Given the description of an element on the screen output the (x, y) to click on. 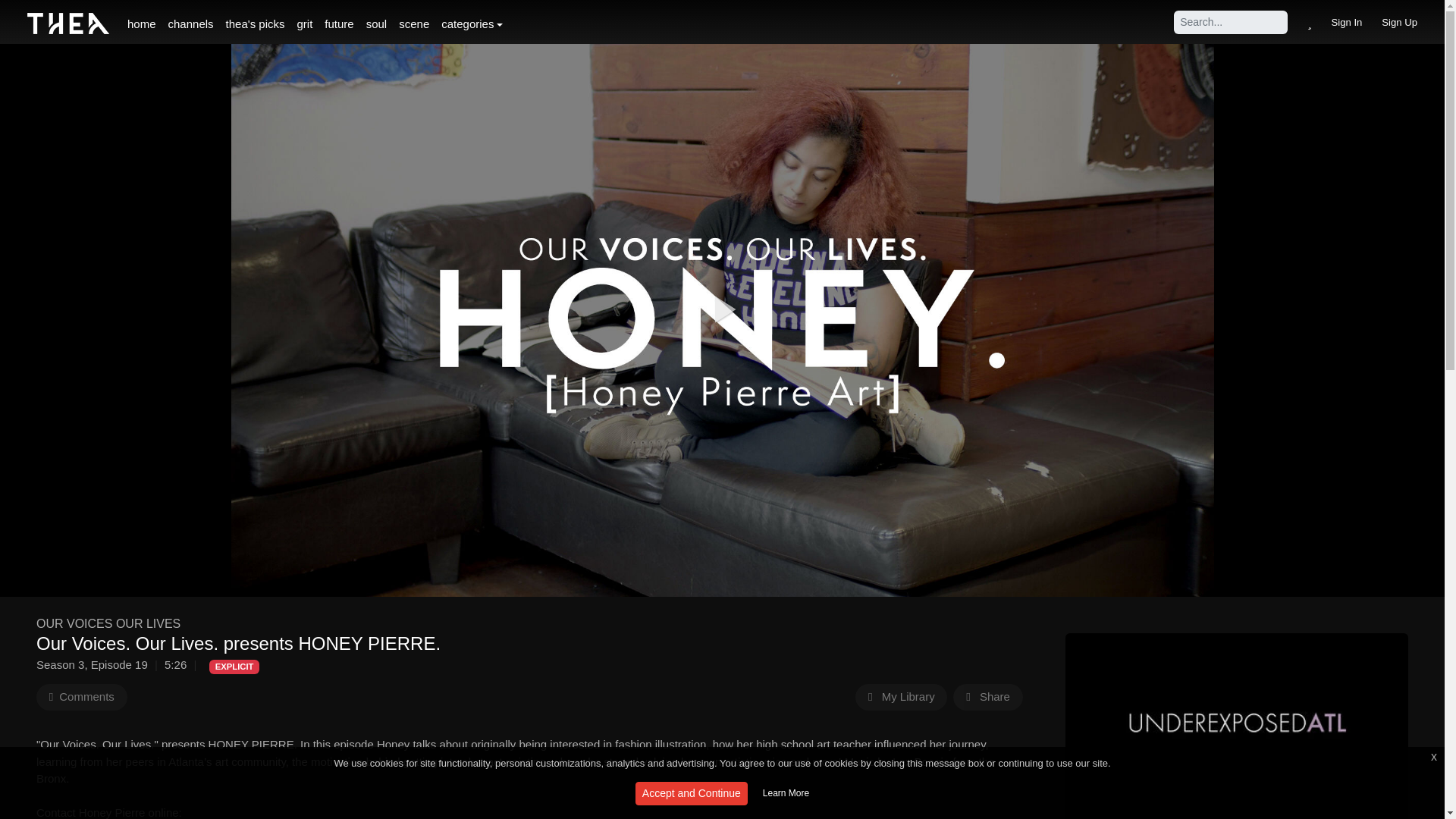
Play Video (722, 311)
Sign In (1346, 22)
thea's picks (255, 24)
categories (471, 24)
scene (414, 24)
channels (190, 24)
home (140, 24)
Sign Up (1399, 22)
soul (376, 24)
grit (303, 24)
